Given the description of an element on the screen output the (x, y) to click on. 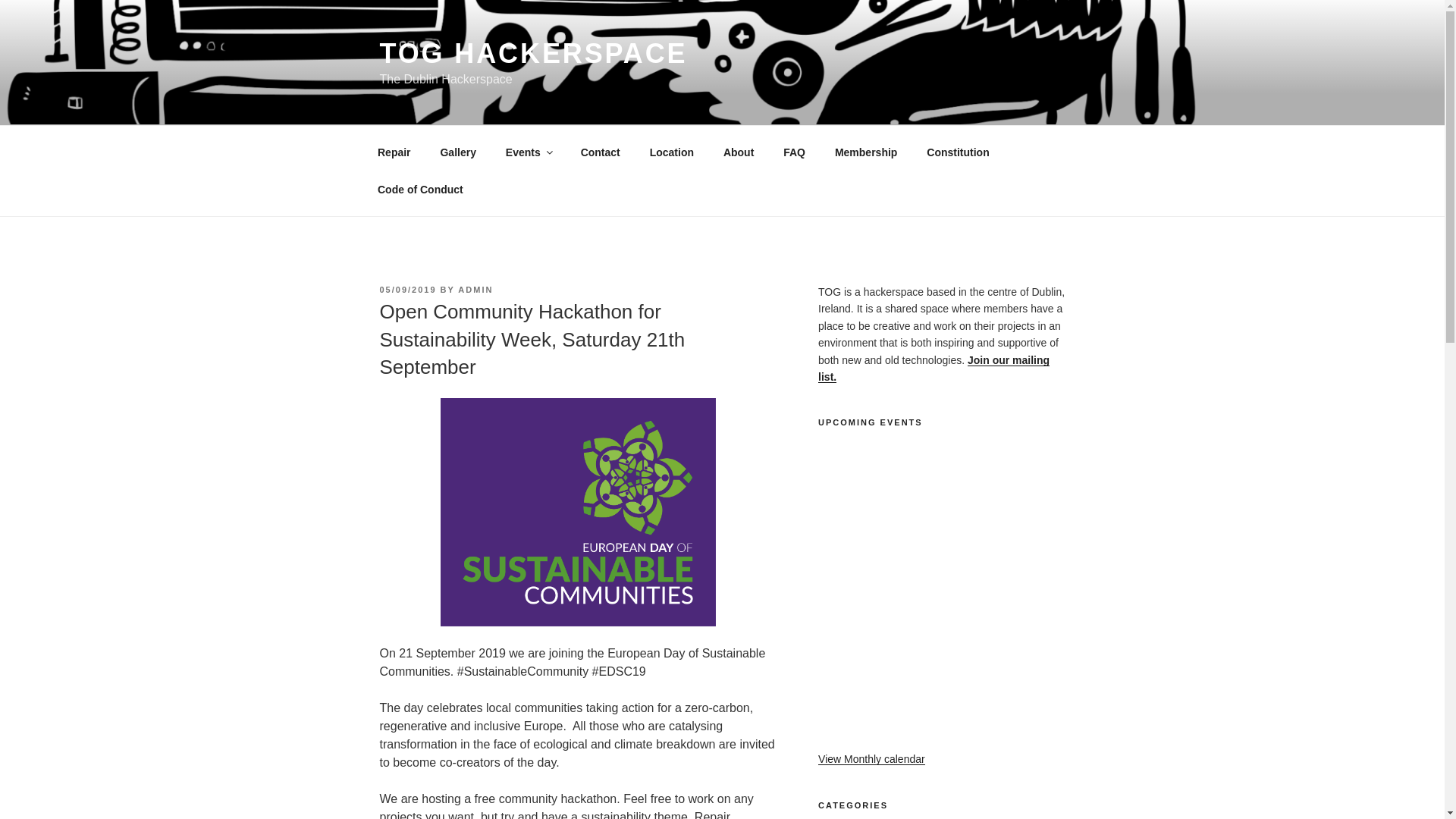
Constitution (958, 151)
About (738, 151)
Gallery (457, 151)
Contact (600, 151)
Membership (865, 151)
TOG HACKERSPACE (532, 52)
Repair (393, 151)
Location (671, 151)
Join our mailing list. (933, 368)
Events (528, 151)
